Given the description of an element on the screen output the (x, y) to click on. 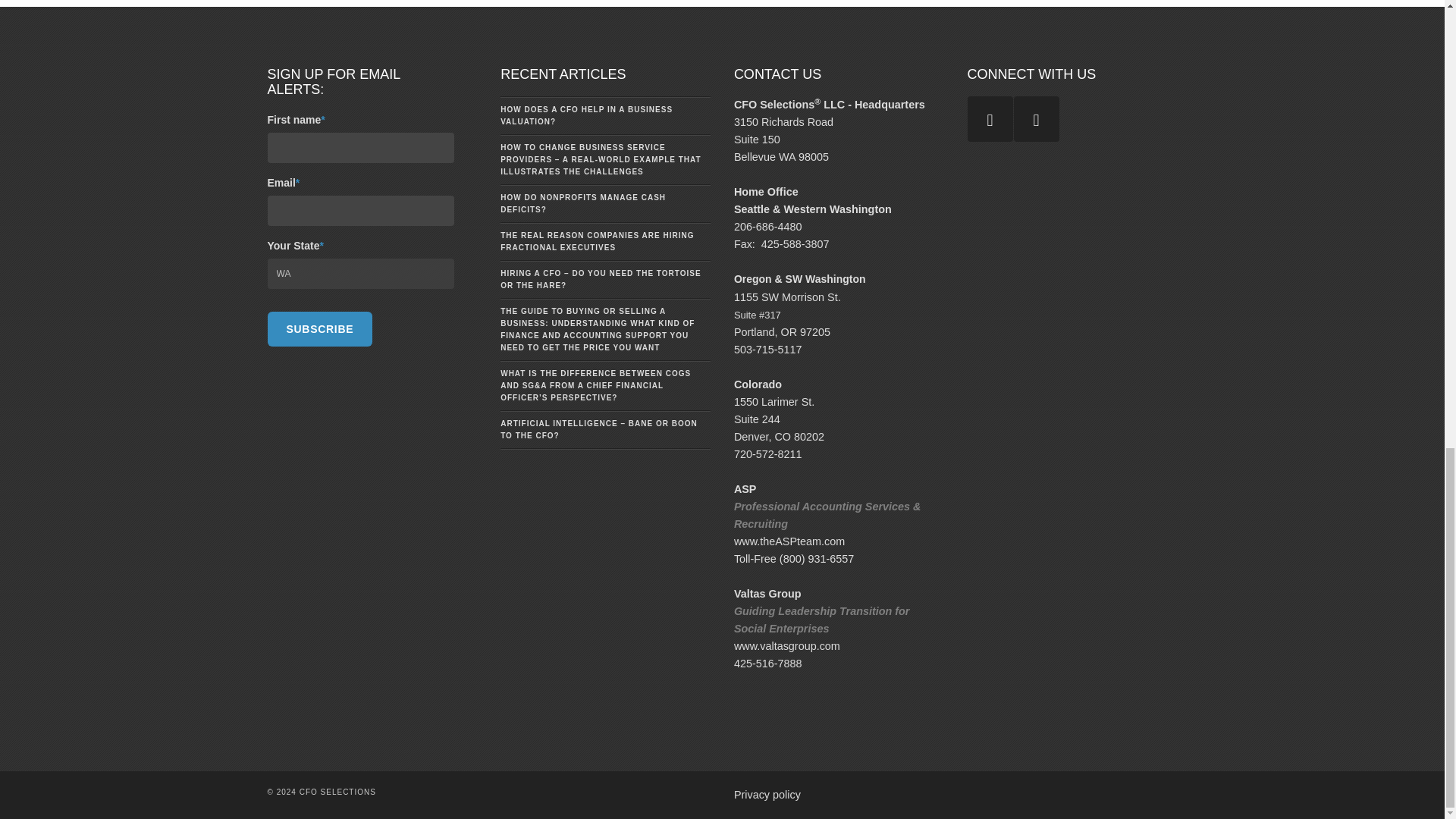
Follow us on RSS (990, 118)
Follow us on Linkedin (1036, 118)
Subscribe (319, 329)
